Given the description of an element on the screen output the (x, y) to click on. 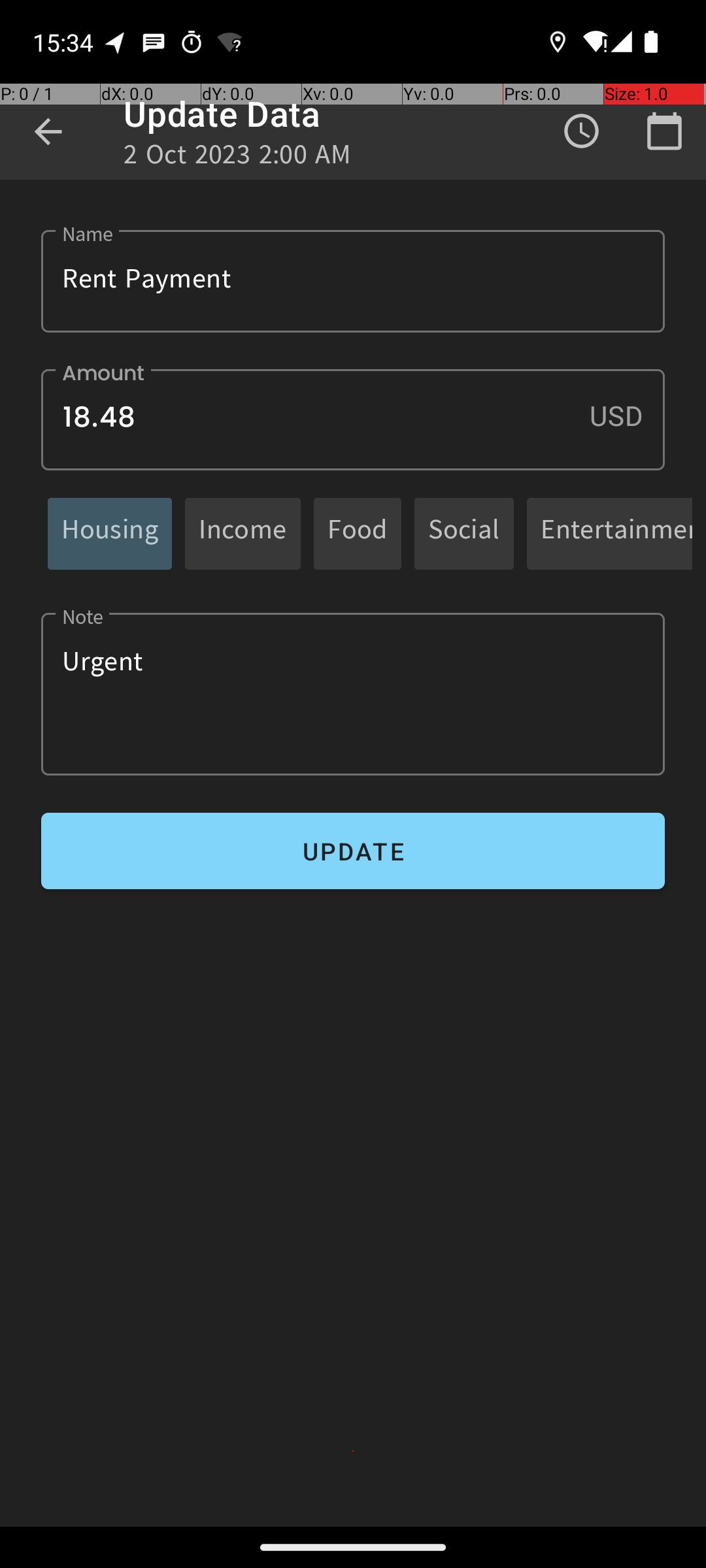
2 Oct 2023 2:00 AM Element type: android.widget.TextView (237, 157)
18.48 Element type: android.widget.EditText (352, 419)
